Given the description of an element on the screen output the (x, y) to click on. 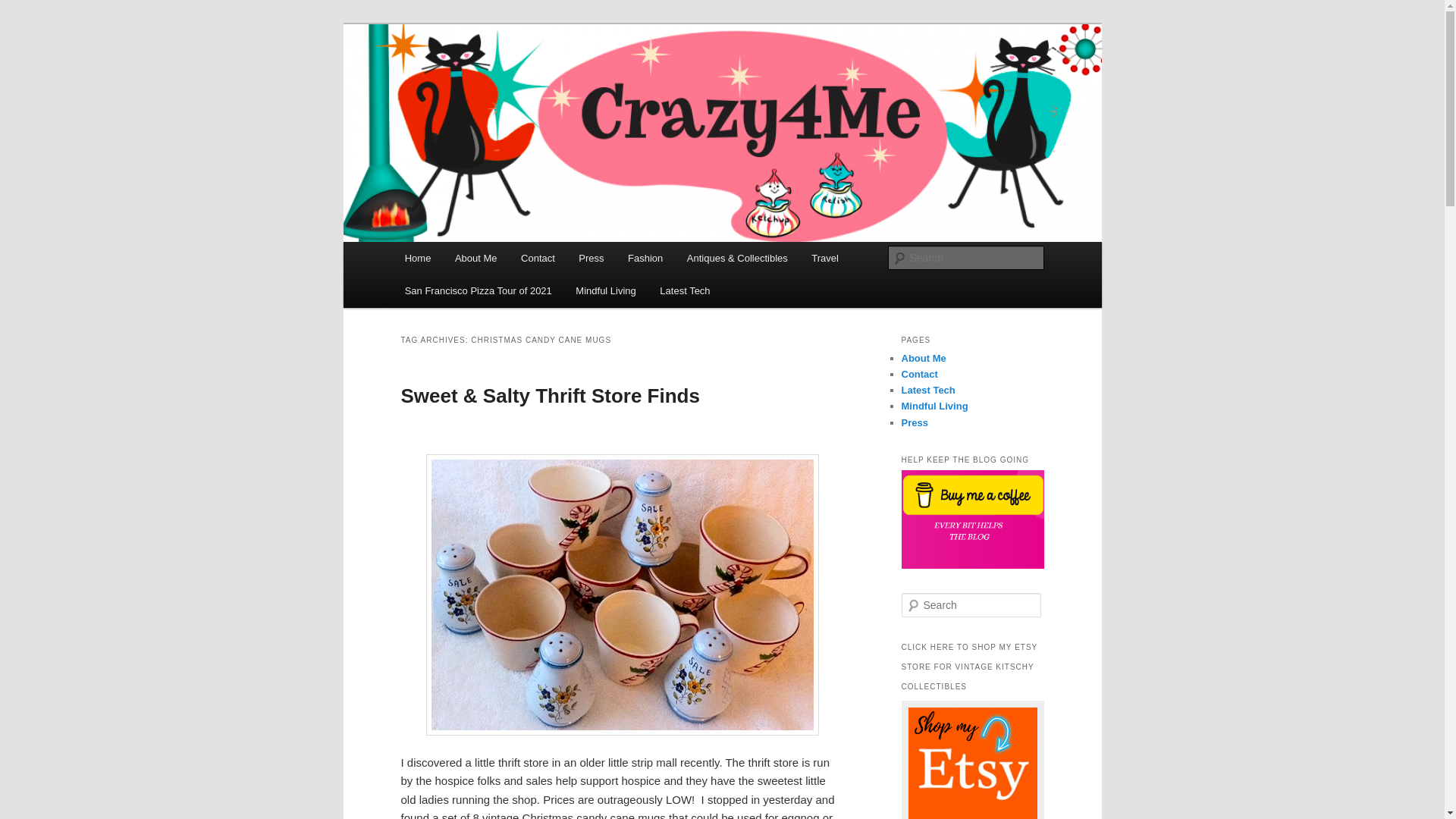
About Me (475, 257)
Press (914, 422)
Mindful Living (605, 290)
About Me (922, 357)
Search (24, 8)
Latest Tech (928, 389)
Contact (537, 257)
Search (21, 11)
Every bit helps keep the blog going (972, 519)
Press (591, 257)
